Given the description of an element on the screen output the (x, y) to click on. 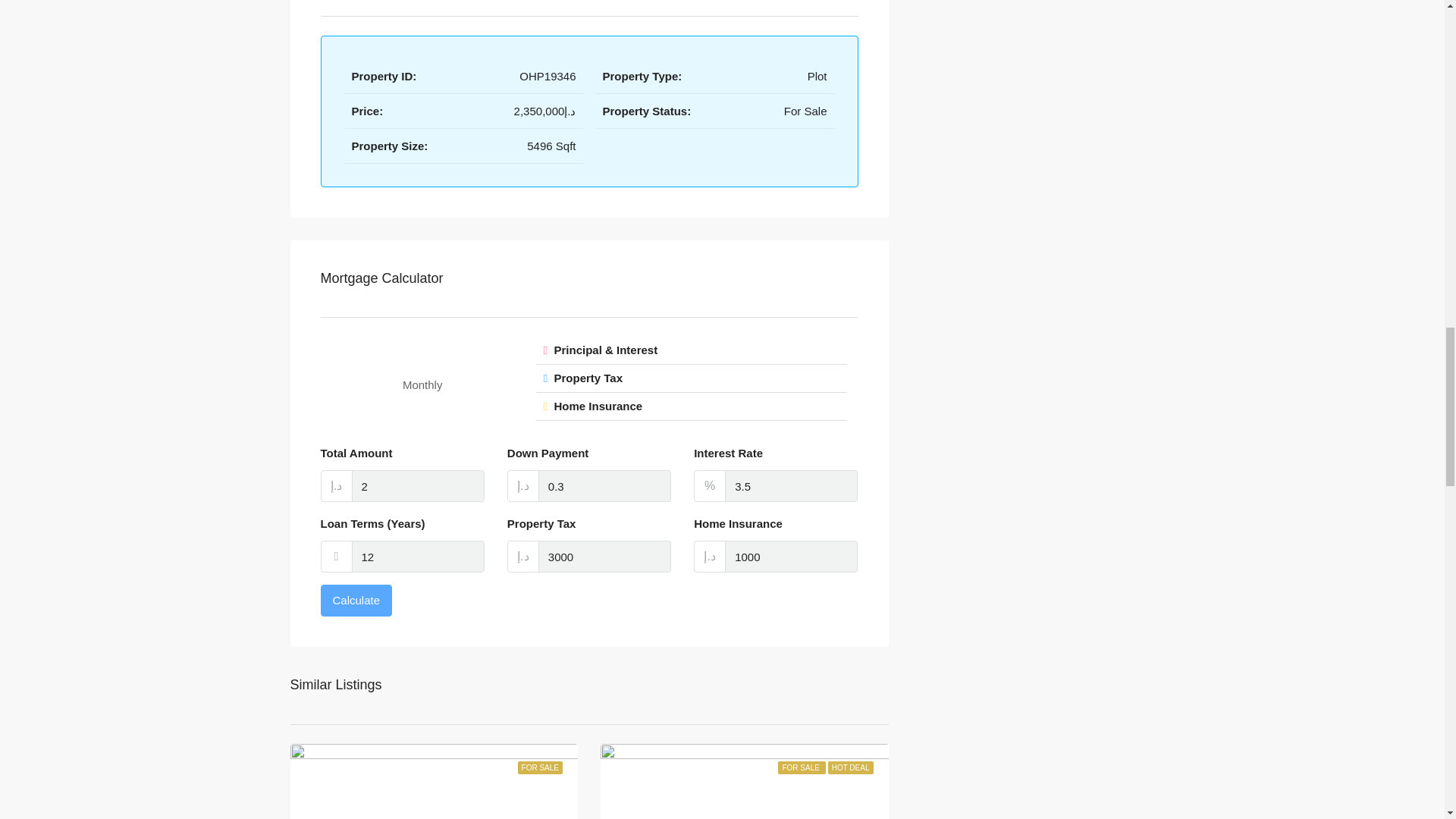
0.3 (604, 486)
2 (418, 486)
1000 (791, 556)
3000 (604, 556)
3.5 (791, 486)
12 (418, 556)
